Given the description of an element on the screen output the (x, y) to click on. 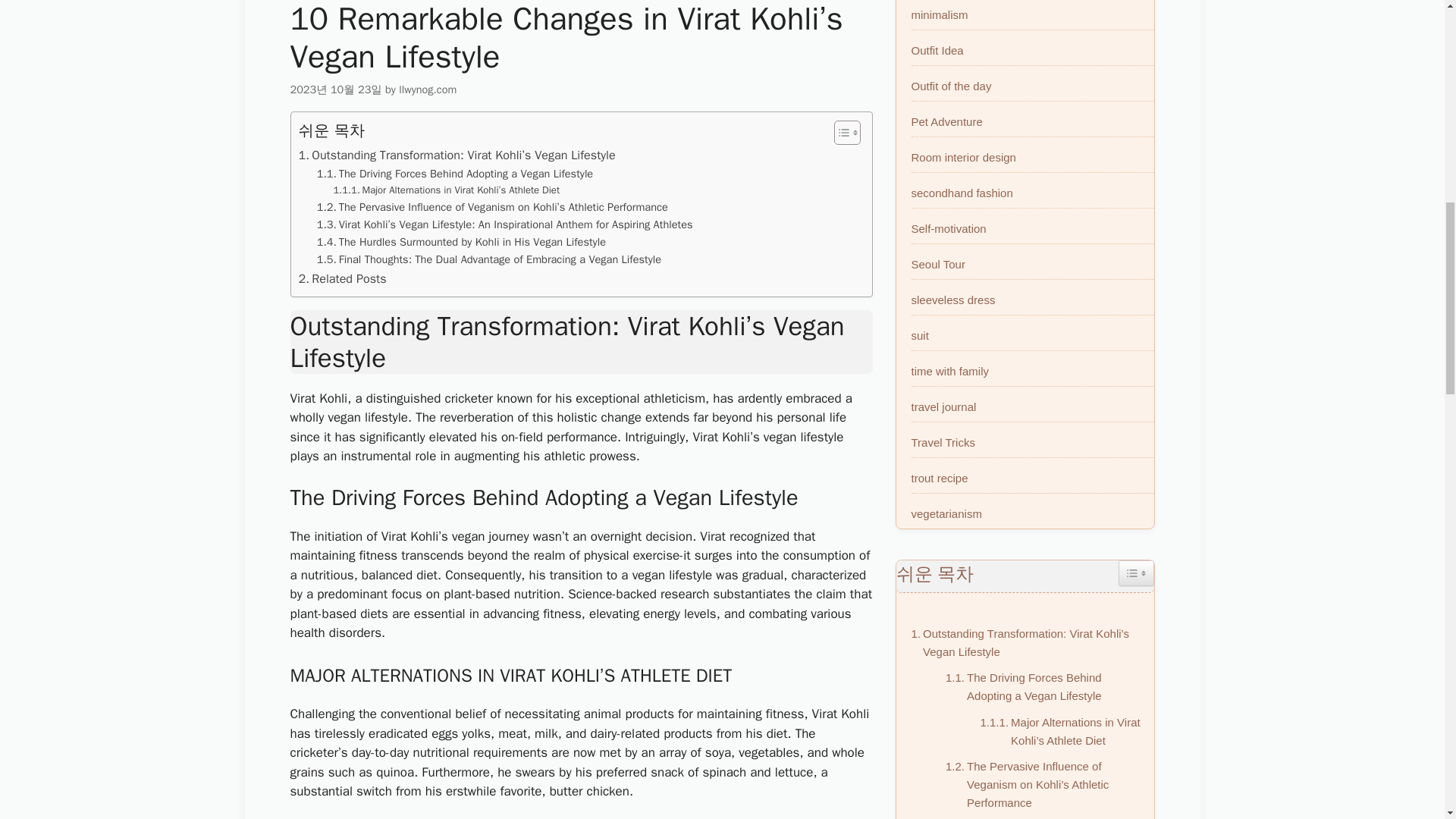
llwynog.com (427, 89)
Related Posts (342, 279)
 The Driving Forces Behind Adopting a Vegan Lifestyle (1042, 687)
The Driving Forces Behind Adopting a Vegan Lifestyle (454, 173)
Related Posts (342, 279)
 The Driving Forces Behind Adopting a Vegan Lifestyle (454, 173)
The Hurdles Surmounted by Kohli in His Vegan Lifestyle (461, 241)
The Hurdles Surmounted by Kohli in His Vegan Lifestyle (461, 241)
View all posts by llwynog.com (427, 89)
